Given the description of an element on the screen output the (x, y) to click on. 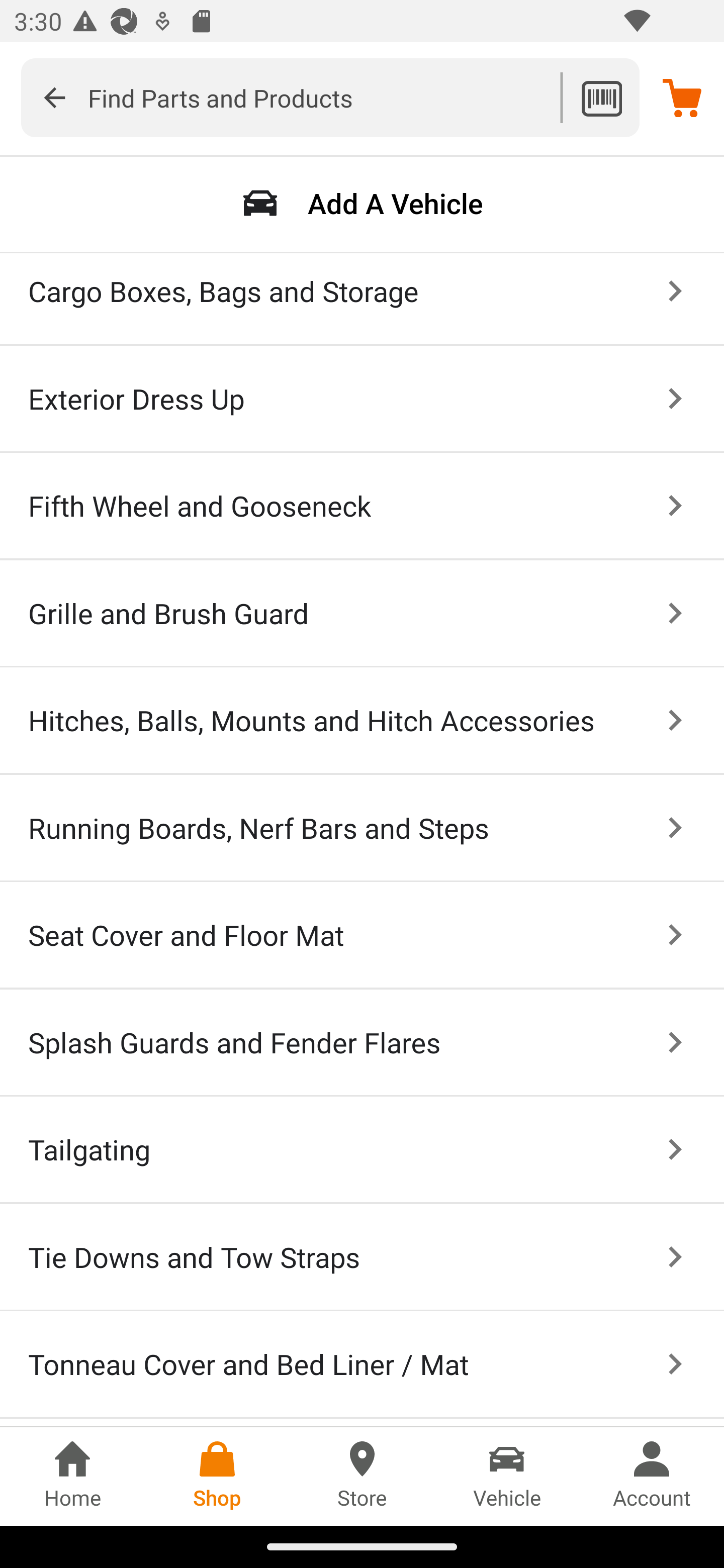
 scan-product-to-search  (601, 97)
 (54, 97)
Cart, no items  (681, 97)
add-vehicle-button  Add A Vehicle (362, 202)
Exterior Dress Up category Exterior Dress Up  (362, 399)
Tailgating category Tailgating  (362, 1150)
Home (72, 1475)
Shop (216, 1475)
Store (361, 1475)
Vehicle (506, 1475)
Account (651, 1475)
